Given the description of an element on the screen output the (x, y) to click on. 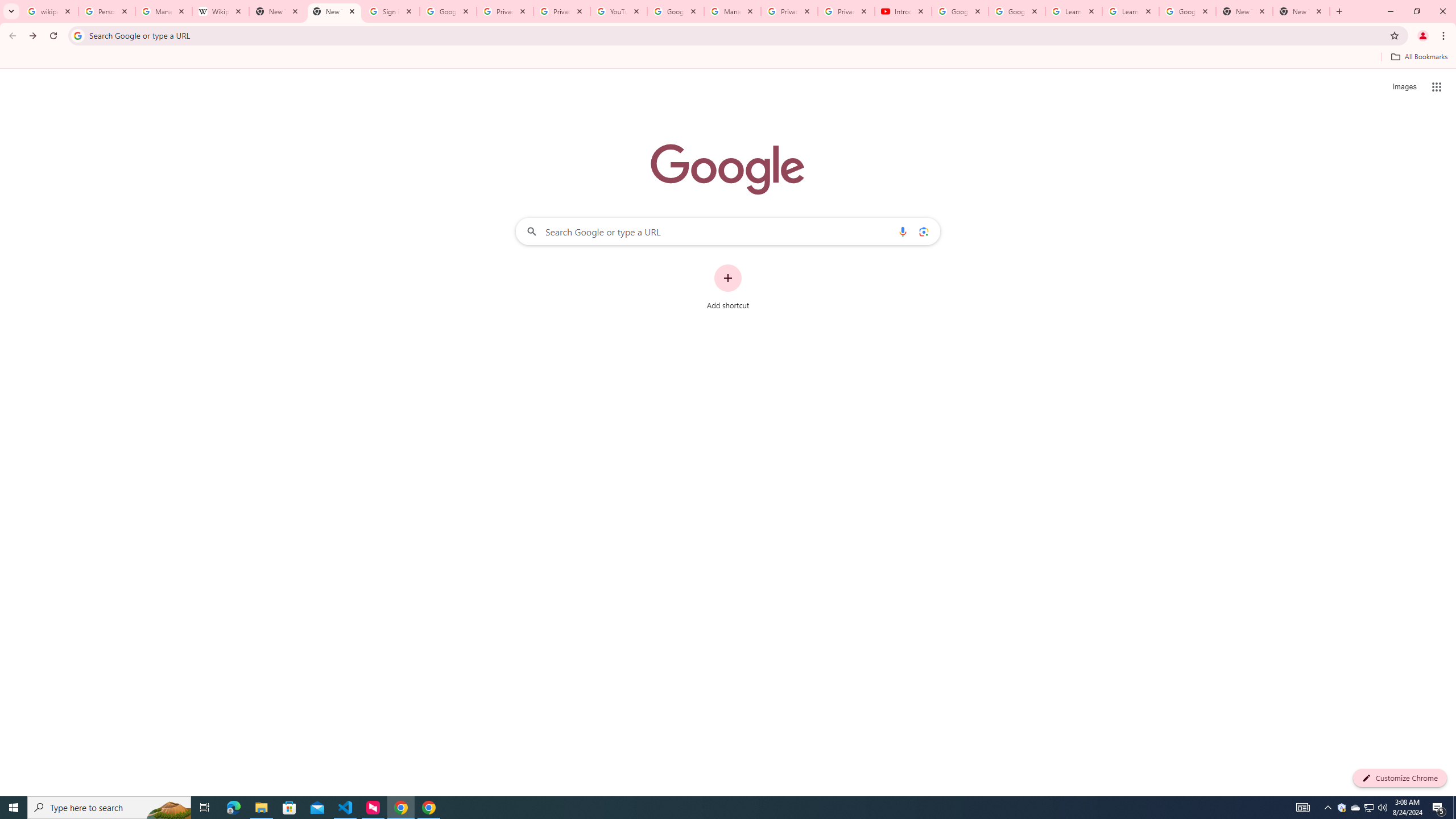
Google Account Help (1015, 11)
Google Account Help (959, 11)
Google Account Help (675, 11)
Add shortcut (727, 287)
New Tab (334, 11)
Sign in - Google Accounts (391, 11)
